Given the description of an element on the screen output the (x, y) to click on. 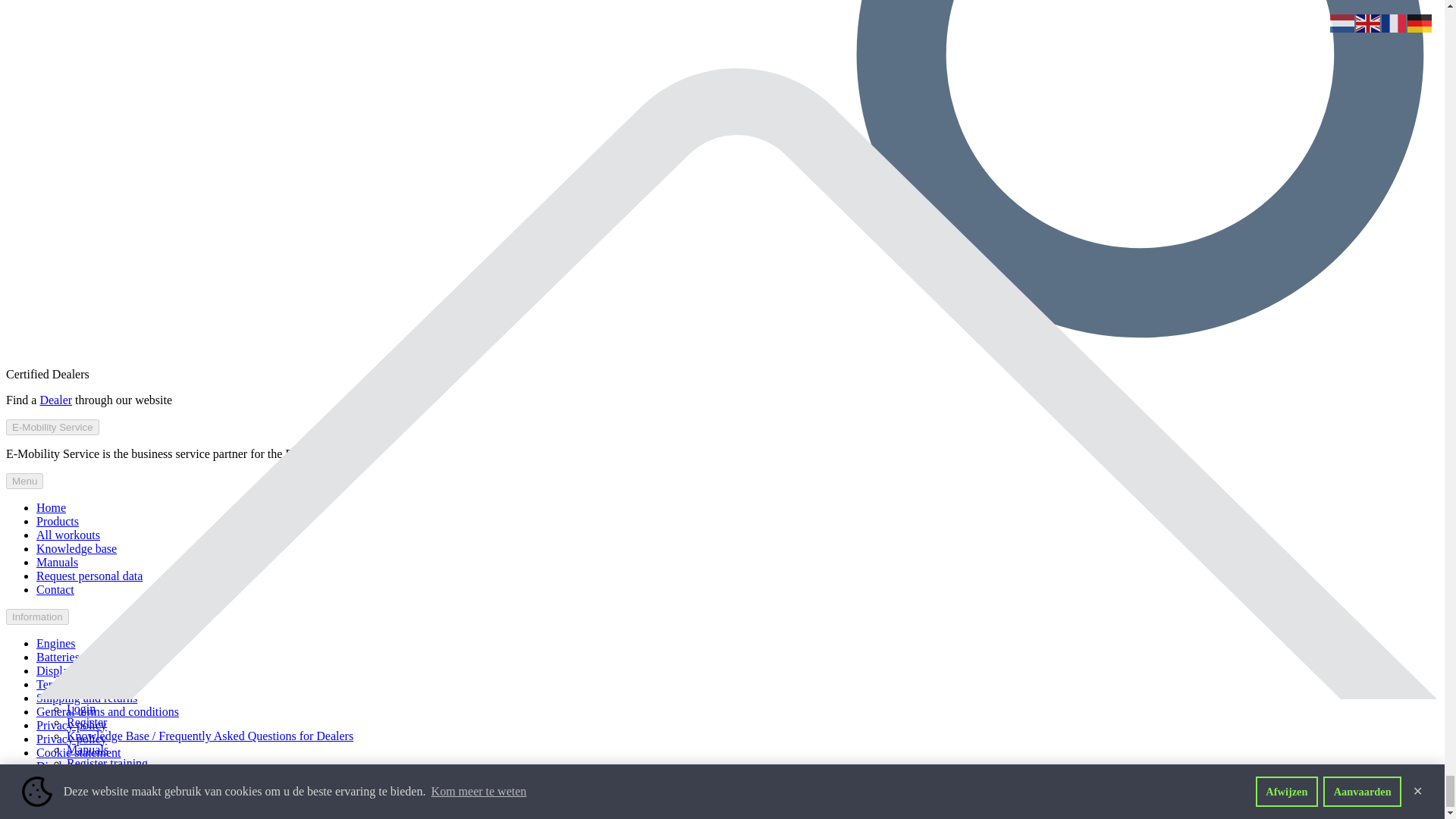
Dealers (55, 399)
